Given the description of an element on the screen output the (x, y) to click on. 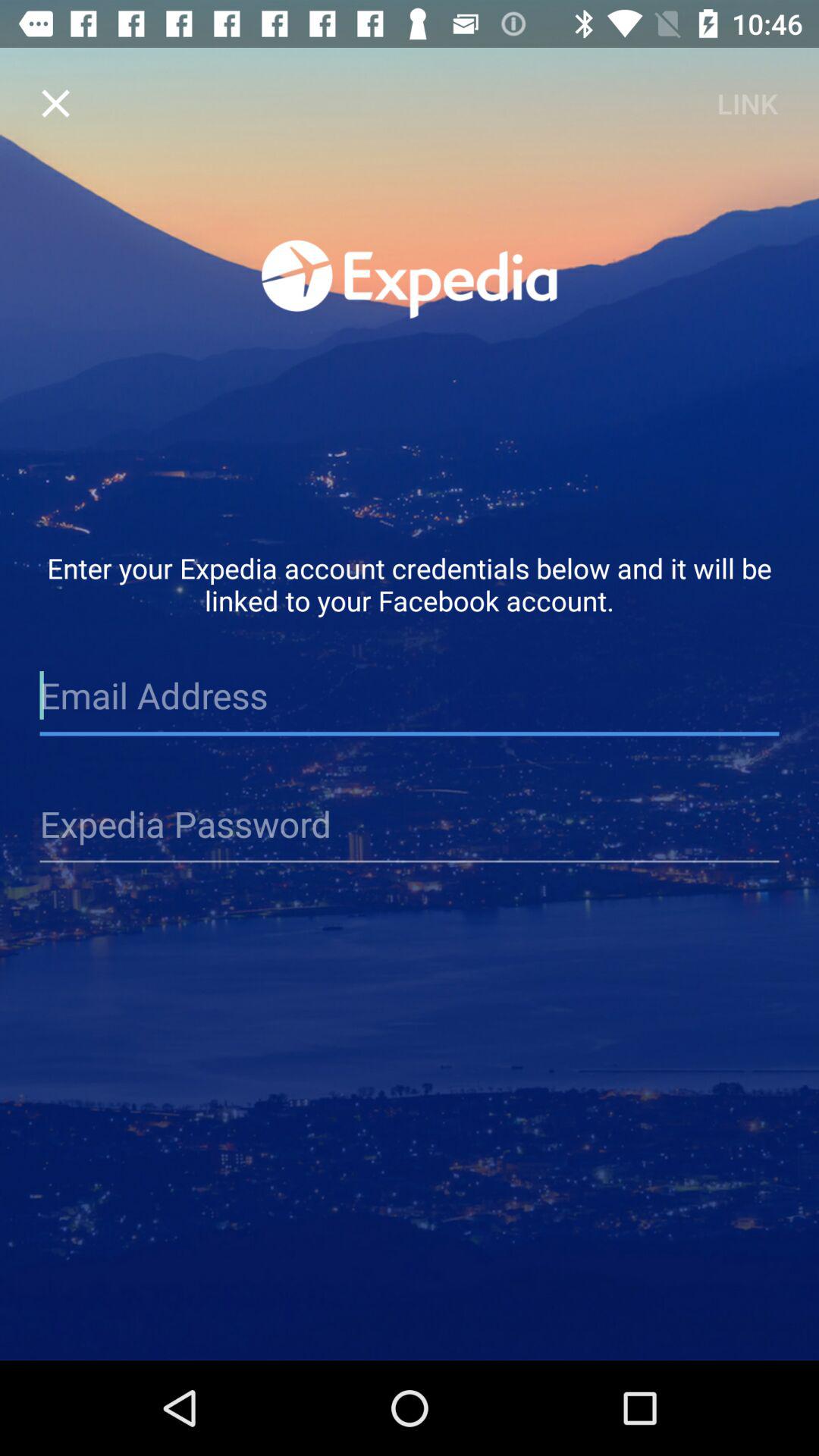
launch the item to the left of link item (55, 103)
